Given the description of an element on the screen output the (x, y) to click on. 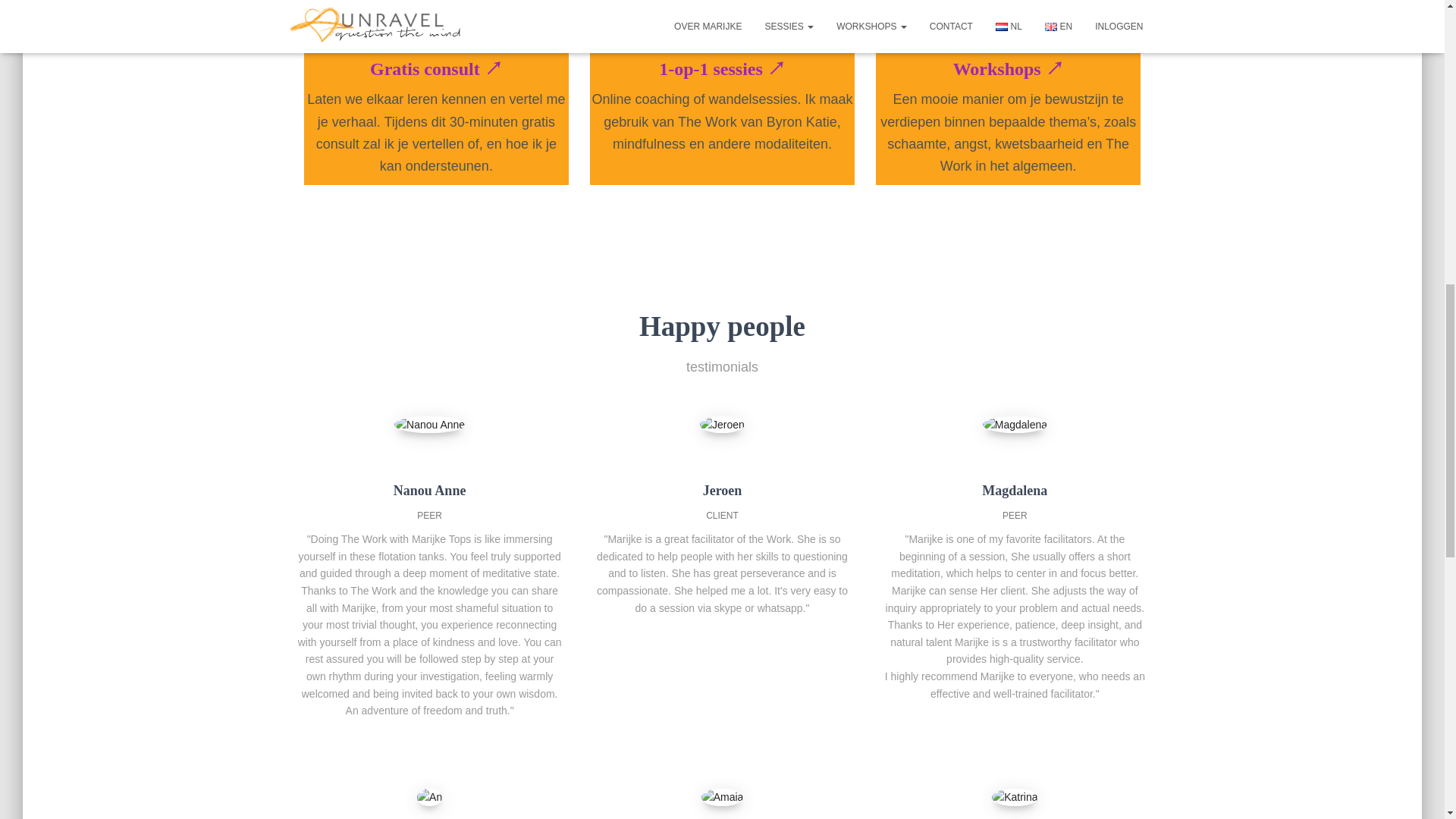
Magdalena (1014, 425)
Nanou Anne (429, 425)
Jeroen (722, 425)
